Given the description of an element on the screen output the (x, y) to click on. 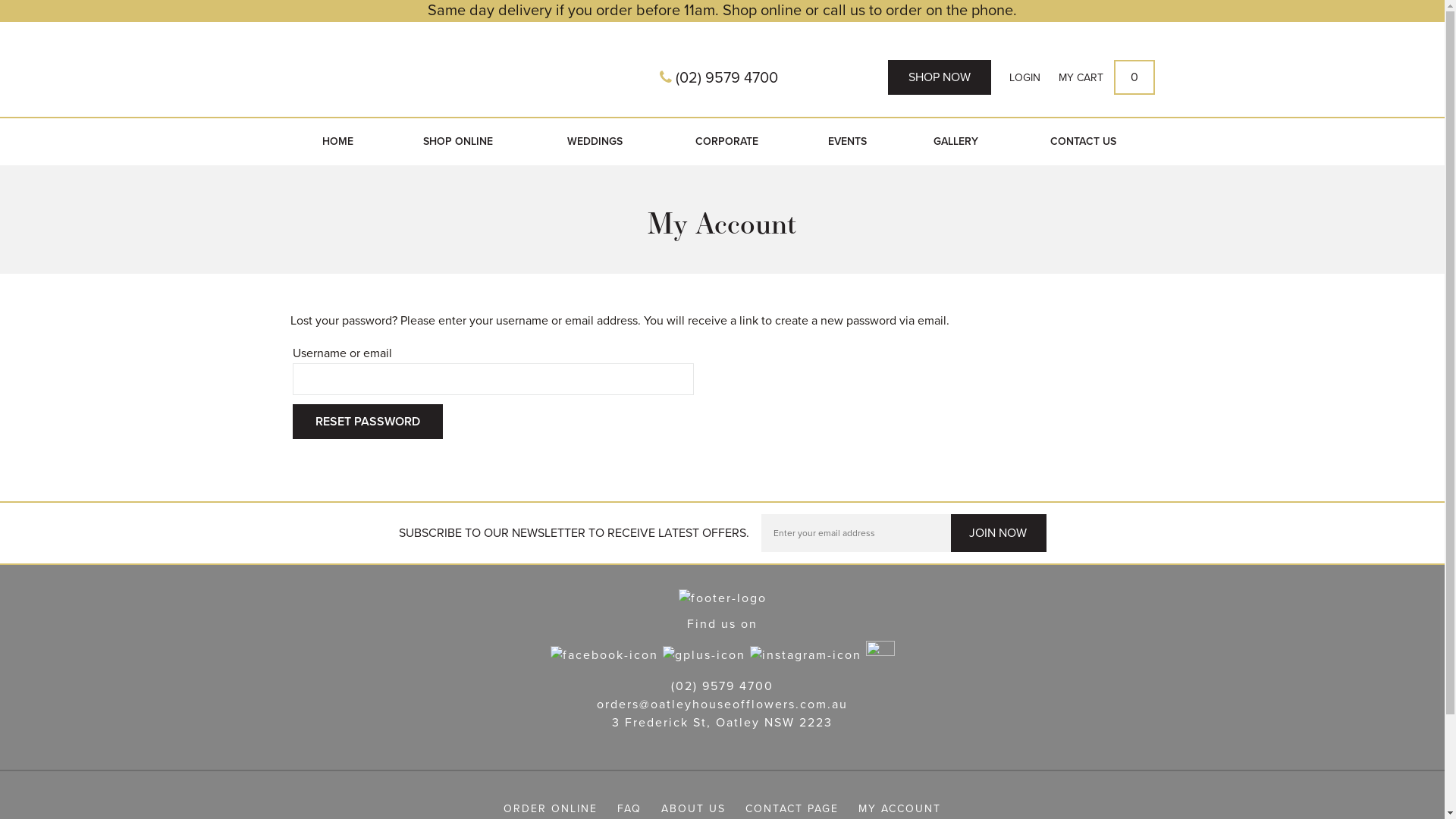
CONTACT PAGE Element type: text (791, 808)
HOME Element type: text (337, 141)
JOIN NOW Element type: text (997, 533)
ABOUT US Element type: text (693, 808)
RESET PASSWORD Element type: text (367, 421)
WEDDINGS Element type: text (594, 141)
CONTACT US Element type: text (1082, 141)
Oatley House Of Flowers Element type: text (454, 72)
FAQ Element type: text (629, 808)
GALLERY Element type: text (956, 141)
MY ACCOUNT Element type: text (899, 808)
SHOP ONLINE Element type: text (457, 141)
SHOP NOW Element type: text (938, 77)
LOGIN Element type: text (1023, 77)
0 Element type: text (1133, 77)
(02) 9579 4700 Element type: text (722, 685)
(02) 9579 4700 Element type: text (718, 78)
EVENTS Element type: text (847, 141)
CORPORATE Element type: text (726, 141)
ORDER ONLINE Element type: text (550, 808)
